Given the description of an element on the screen output the (x, y) to click on. 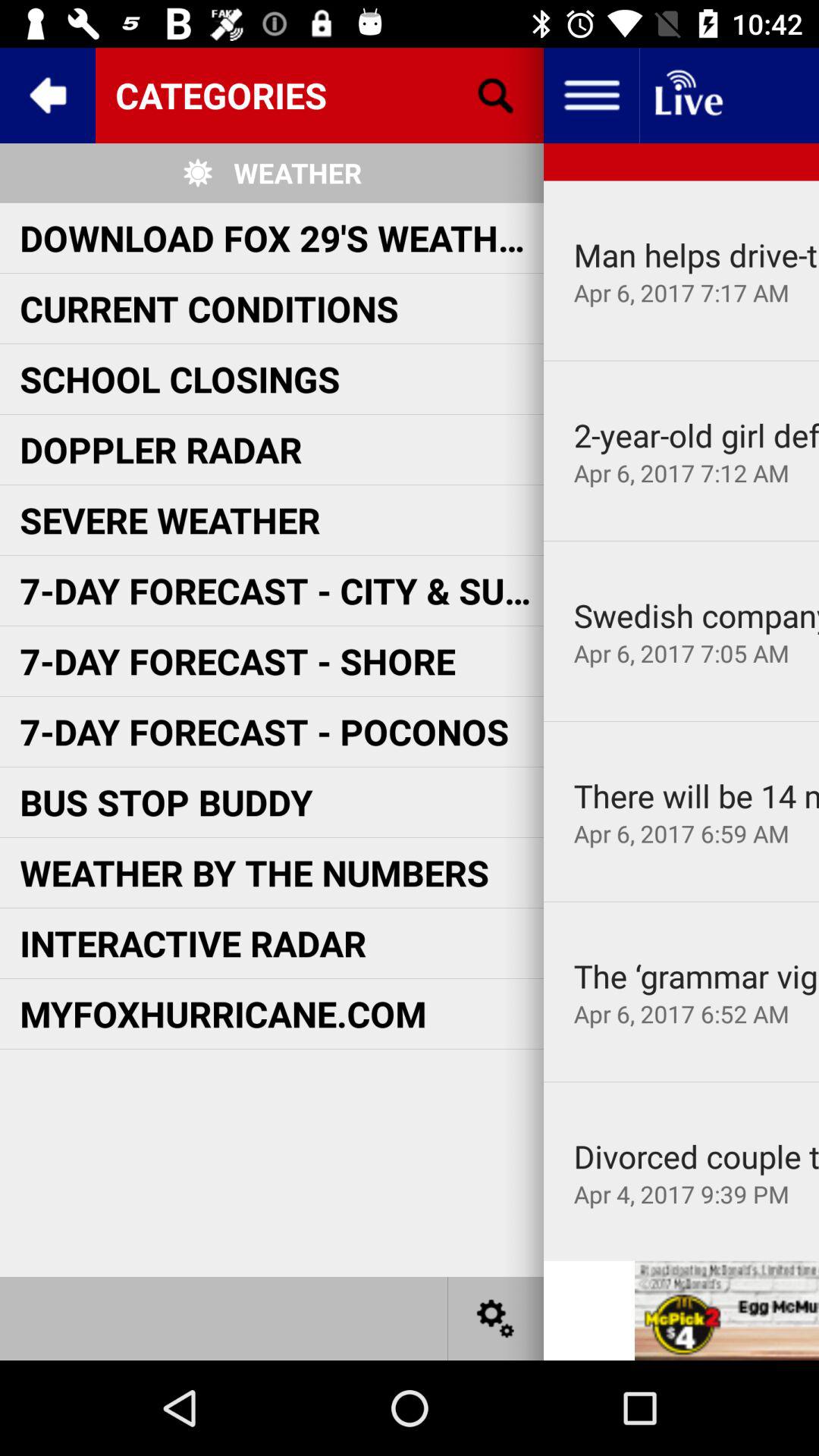
go live (687, 95)
